Given the description of an element on the screen output the (x, y) to click on. 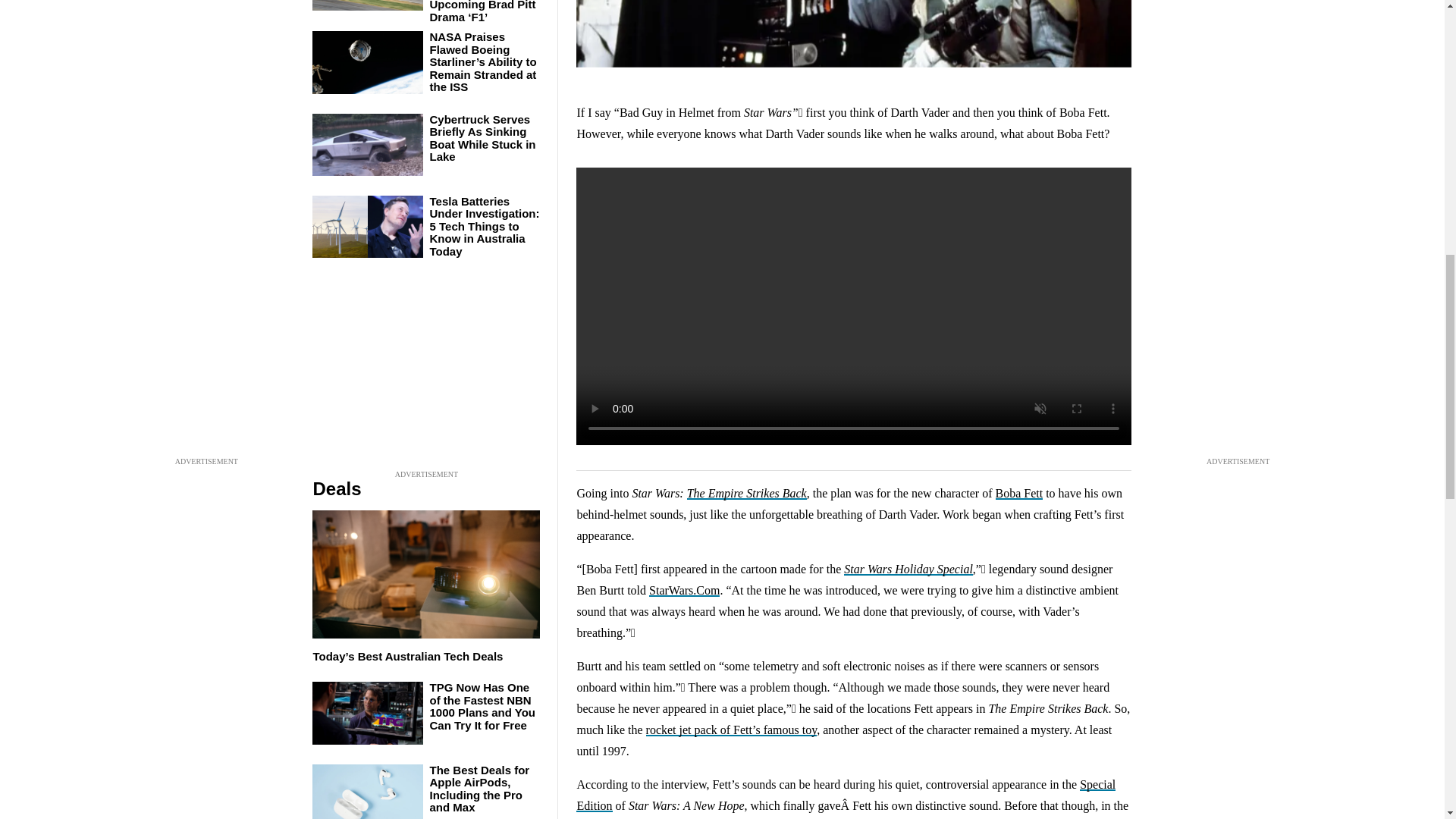
3rd party ad content (426, 372)
